Given the description of an element on the screen output the (x, y) to click on. 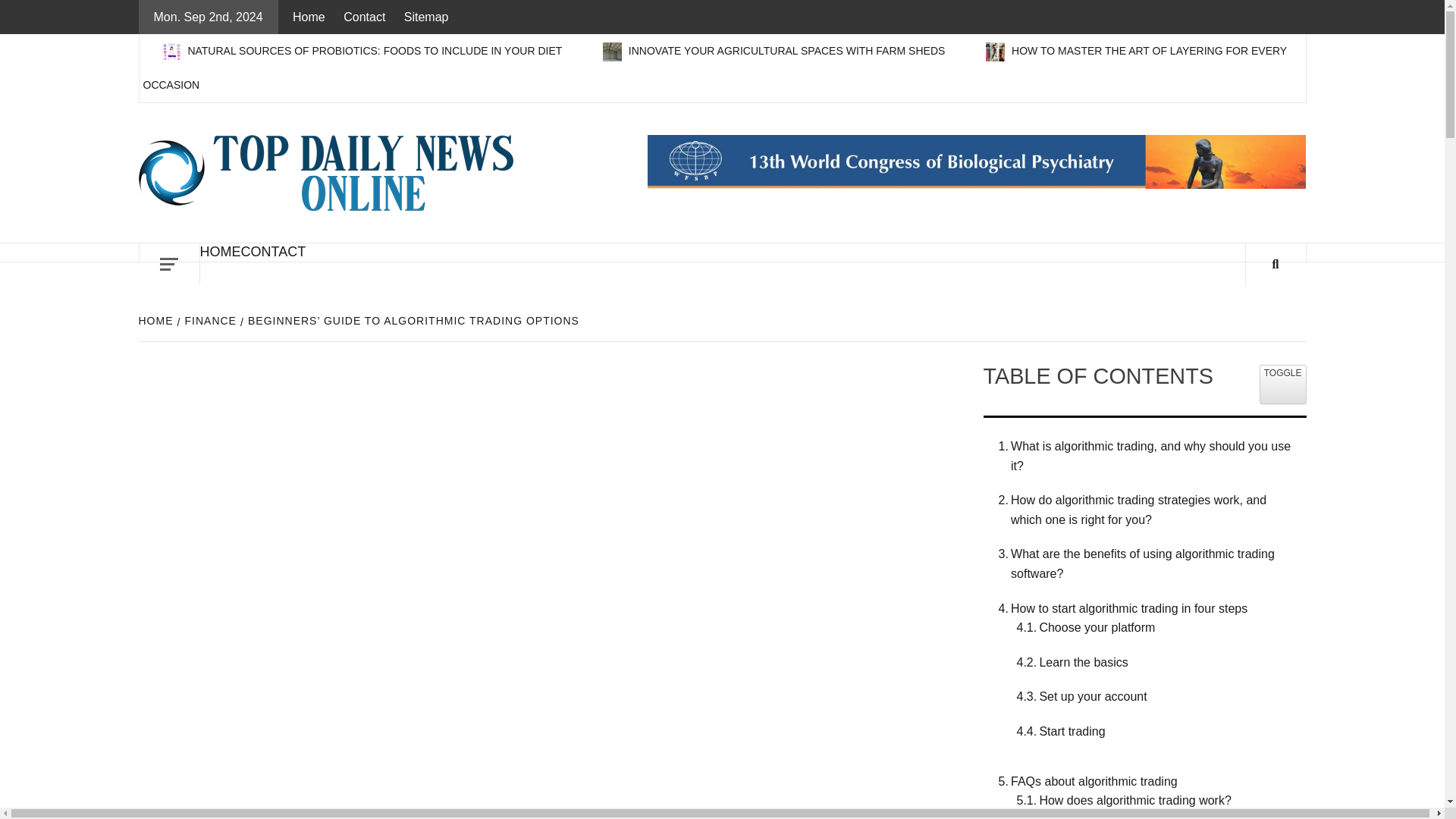
CONTACT (273, 251)
HOME (157, 320)
FINANCE (208, 320)
Home (312, 17)
Contact (364, 17)
INNOVATE YOUR AGRICULTURAL SPACES WITH FARM SHEDS (774, 50)
HOME (220, 251)
HOW TO MASTER THE ART OF LAYERING FOR EVERY OCCASION (713, 67)
Sitemap (426, 17)
NATURAL SOURCES OF PROBIOTICS: FOODS TO INCLUDE IN YOUR DIET (362, 50)
